Given the description of an element on the screen output the (x, y) to click on. 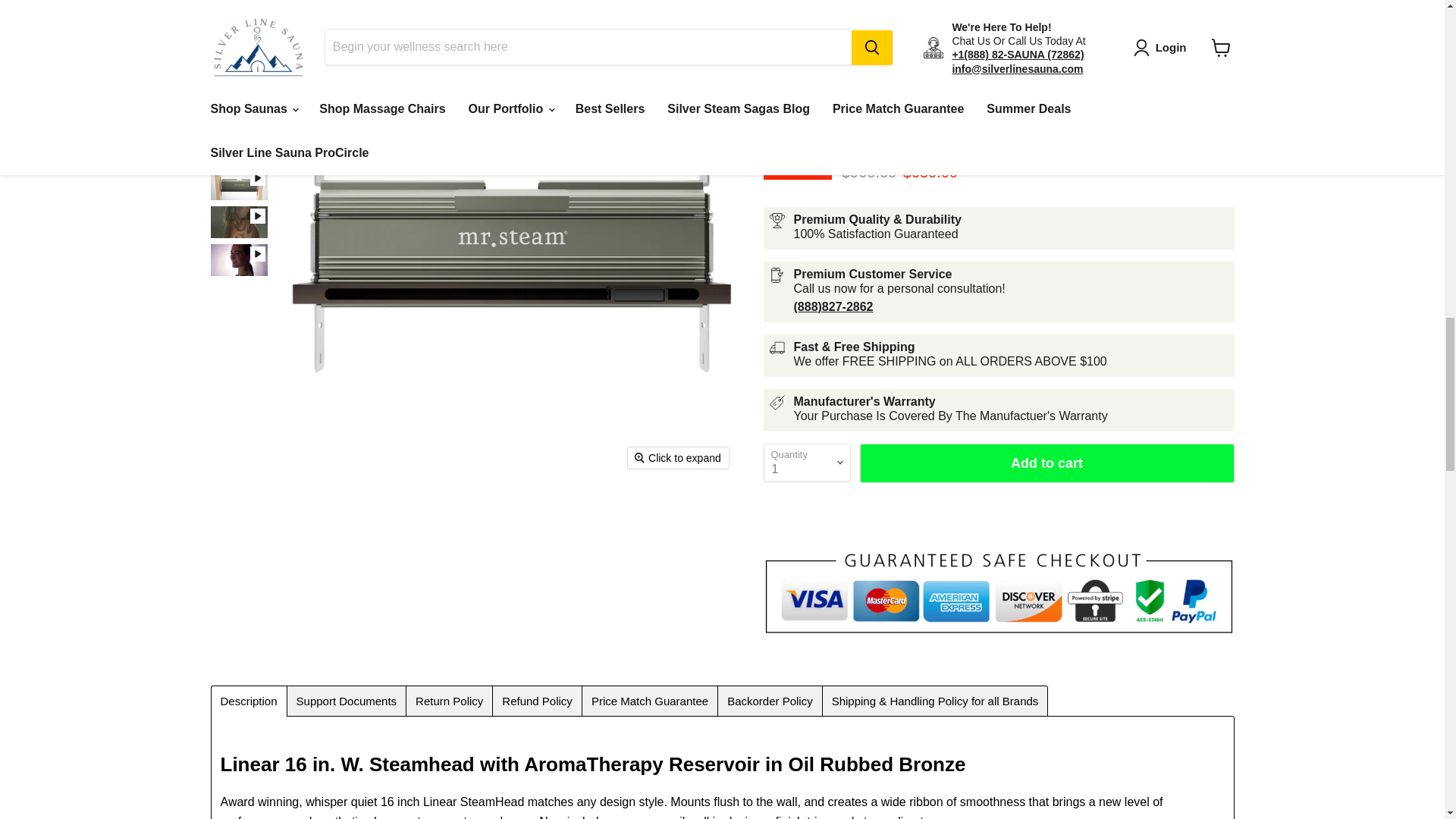
Mr. Steam (806, 118)
